Given the description of an element on the screen output the (x, y) to click on. 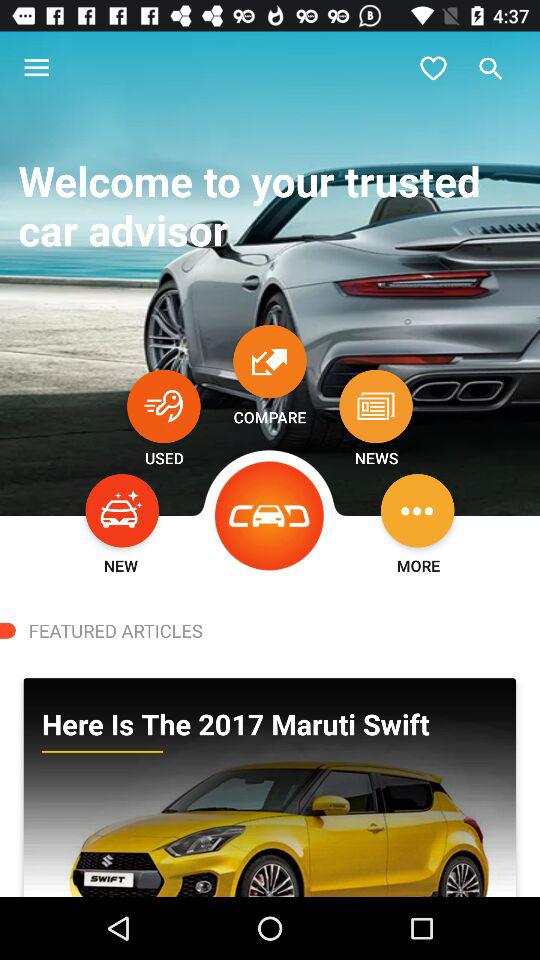
search new car advice (122, 510)
